Given the description of an element on the screen output the (x, y) to click on. 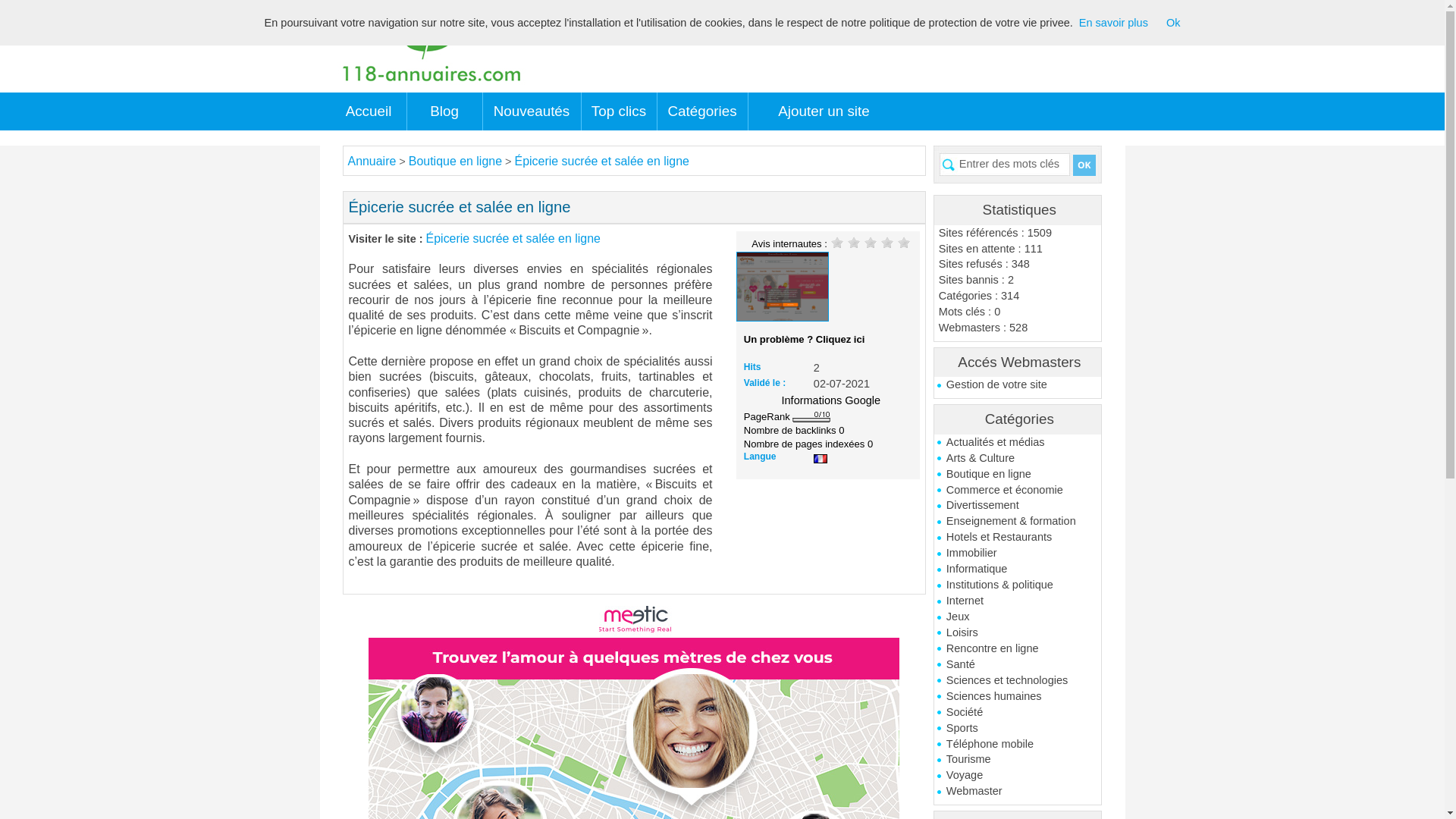
Voyage Element type: text (1017, 775)
Institutions & politique Element type: text (1017, 585)
Ajouter un site Element type: text (823, 111)
Immobilier Element type: text (1017, 553)
Sciences et technologies Element type: text (1017, 680)
Loisirs Element type: text (1017, 632)
Annuaire Element type: text (371, 160)
Hotels et Restaurants Element type: text (1017, 537)
5 Element type: text (903, 241)
Divertissement Element type: text (1017, 505)
3 Element type: text (870, 241)
Jeux Element type: text (1017, 616)
Sciences humaines Element type: text (1017, 696)
Internet Element type: text (1017, 600)
4 Element type: text (887, 241)
Gestion de votre site Element type: text (1017, 384)
Enseignement & formation Element type: text (1017, 521)
Arts & Culture Element type: text (1017, 458)
2 Element type: text (853, 241)
Sports Element type: text (1017, 728)
Webmaster Element type: text (1017, 791)
En savoir plus Element type: text (1113, 22)
Tourisme Element type: text (1017, 759)
1 Element type: text (837, 241)
Accueil Element type: text (367, 111)
Ok Element type: text (1173, 22)
Blog Element type: text (443, 111)
Rencontre en ligne Element type: text (1017, 648)
Top clics Element type: text (617, 111)
Informatique Element type: text (1017, 569)
Boutique en ligne Element type: text (1017, 474)
Boutique en ligne Element type: text (455, 160)
